Given the description of an element on the screen output the (x, y) to click on. 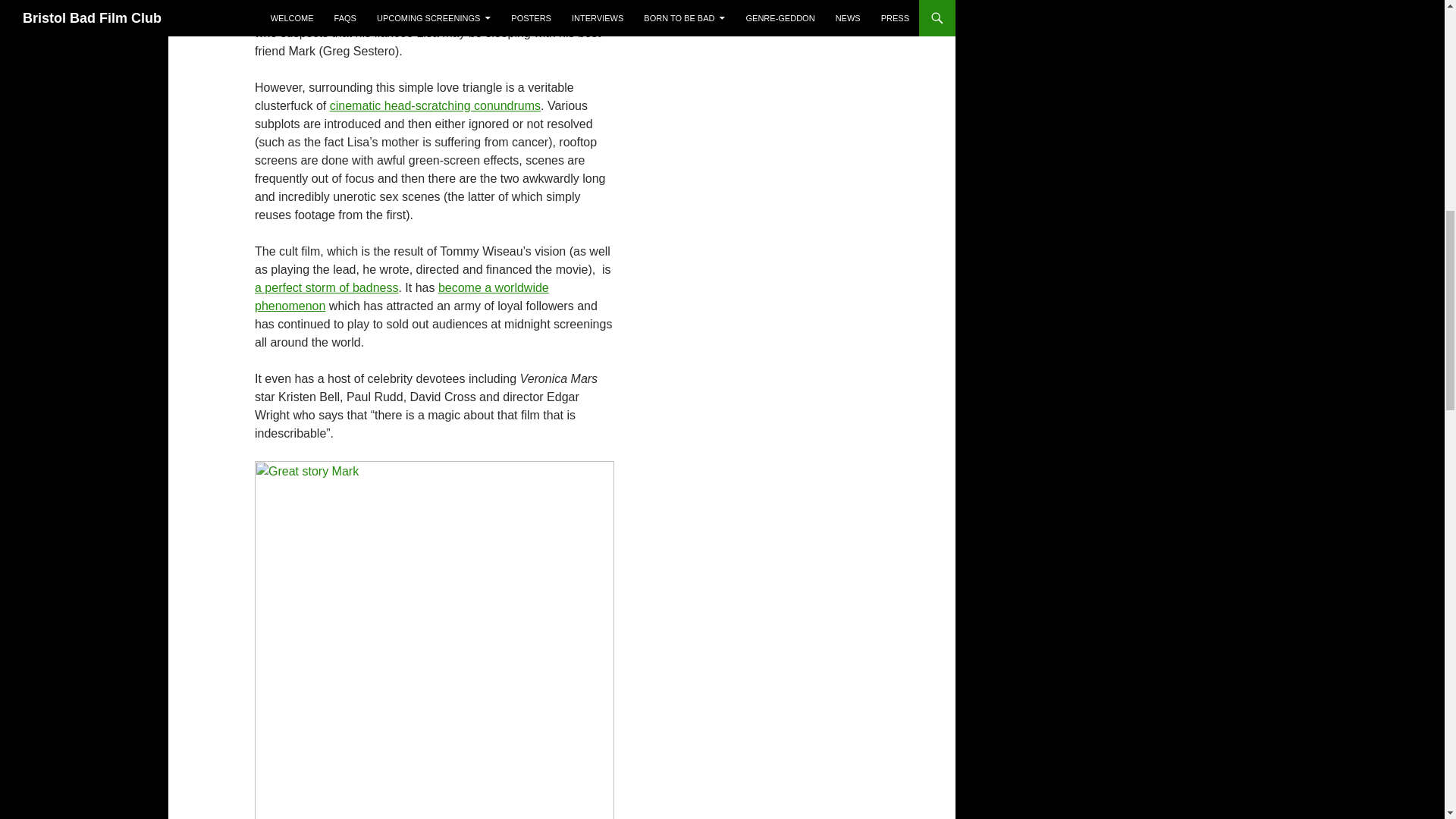
become a worldwide phenomenon (401, 296)
cinematic head-scratching conundrums (435, 105)
a perfect storm of badness (325, 287)
